Given the description of an element on the screen output the (x, y) to click on. 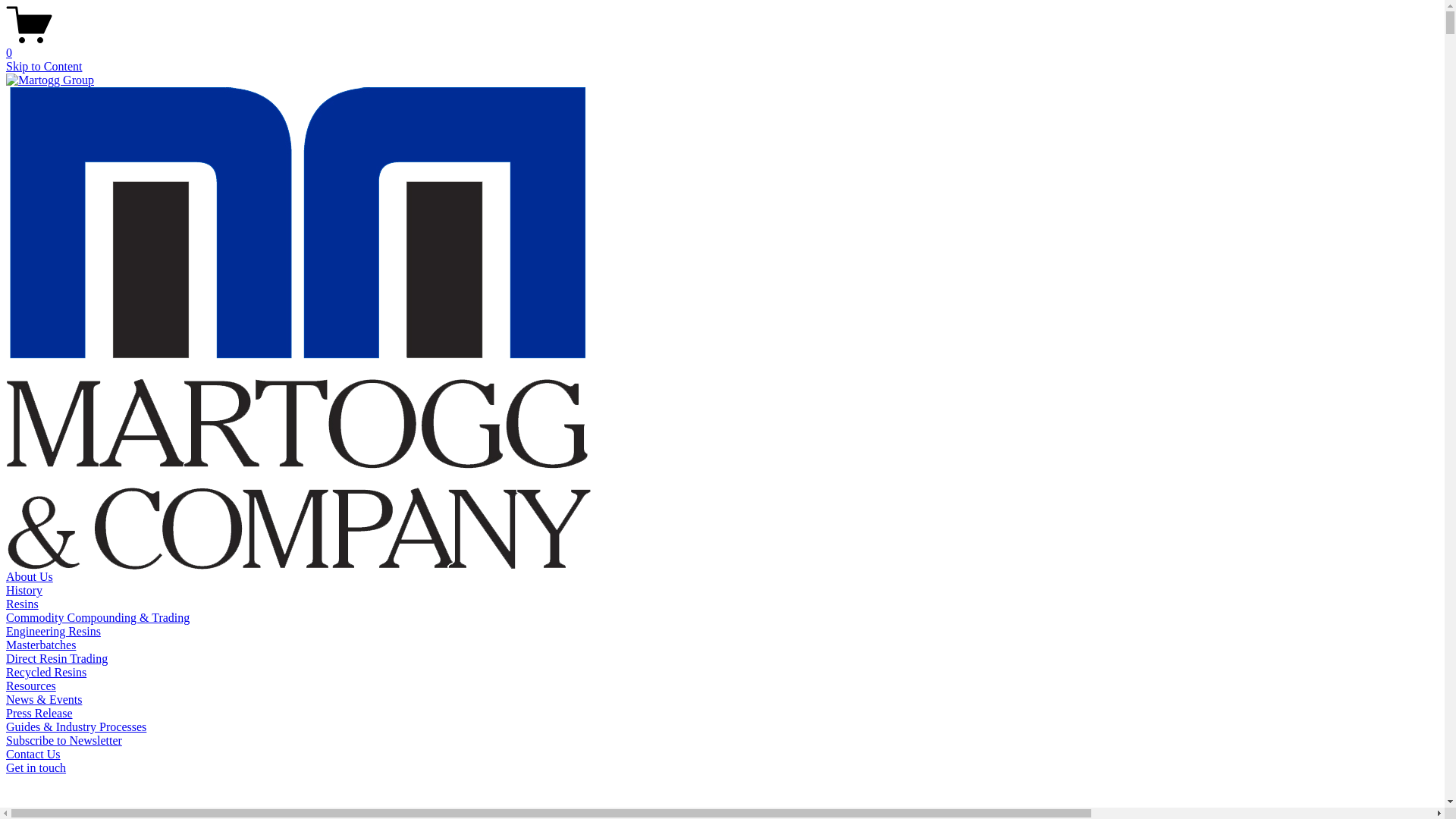
Press Release Element type: text (39, 712)
Recycled Resins Element type: text (46, 671)
Subscribe to Newsletter Element type: text (64, 740)
Resources Element type: text (31, 685)
Skip to Content Element type: text (43, 65)
About Us Element type: text (29, 576)
Engineering Resins Element type: text (53, 630)
Get in touch Element type: text (35, 767)
Guides & Industry Processes Element type: text (76, 726)
Resins Element type: text (22, 603)
Masterbatches Element type: text (40, 644)
Contact Us Element type: text (33, 753)
News & Events Element type: text (43, 699)
History Element type: text (24, 589)
Commodity Compounding & Trading Element type: text (97, 617)
0 Element type: text (722, 45)
Direct Resin Trading Element type: text (56, 658)
